Given the description of an element on the screen output the (x, y) to click on. 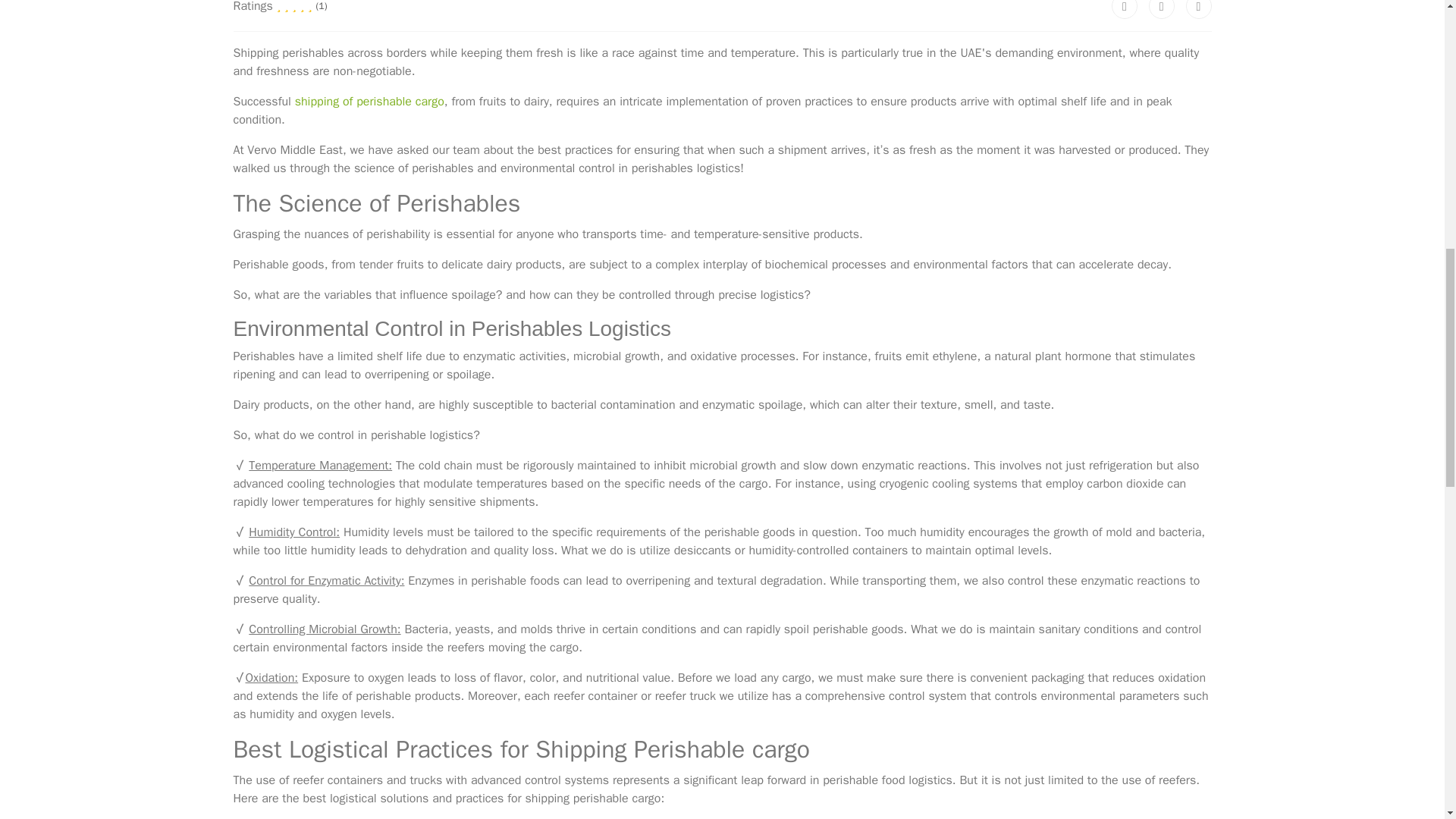
shipping of perishable cargo (369, 101)
LinkedIn (1198, 9)
Facebook (1124, 9)
Twitter (1161, 9)
